Given the description of an element on the screen output the (x, y) to click on. 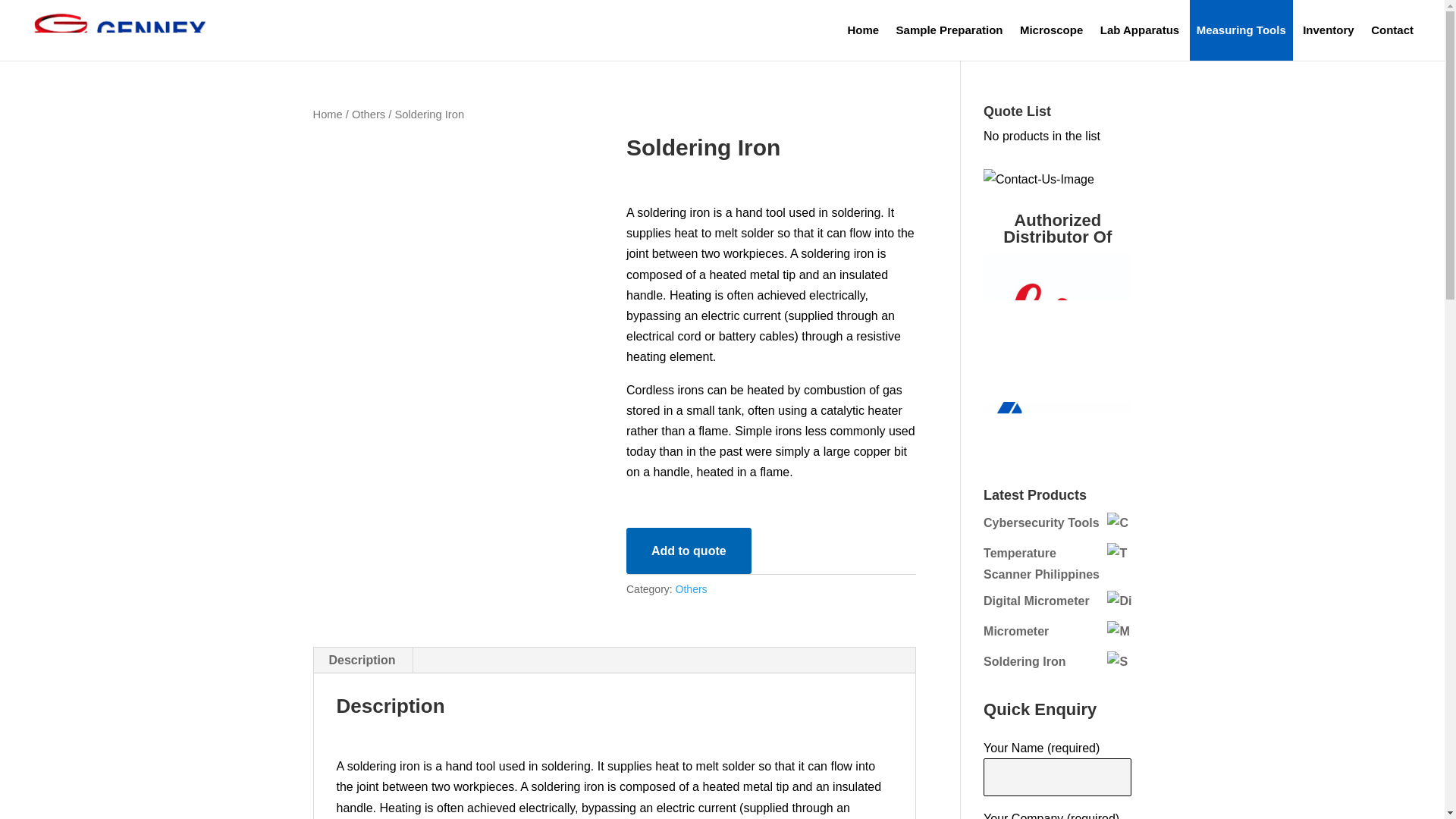
Home (327, 114)
Lab Apparatus (1139, 30)
Contact (1392, 30)
Microscope (1051, 30)
Cybersecurity Tools (1057, 522)
Description (362, 660)
Measuring Tools (1240, 30)
Sample Preparation (949, 30)
Add to quote (688, 550)
Others (691, 589)
Others (368, 114)
Inventory (1328, 30)
